Given the description of an element on the screen output the (x, y) to click on. 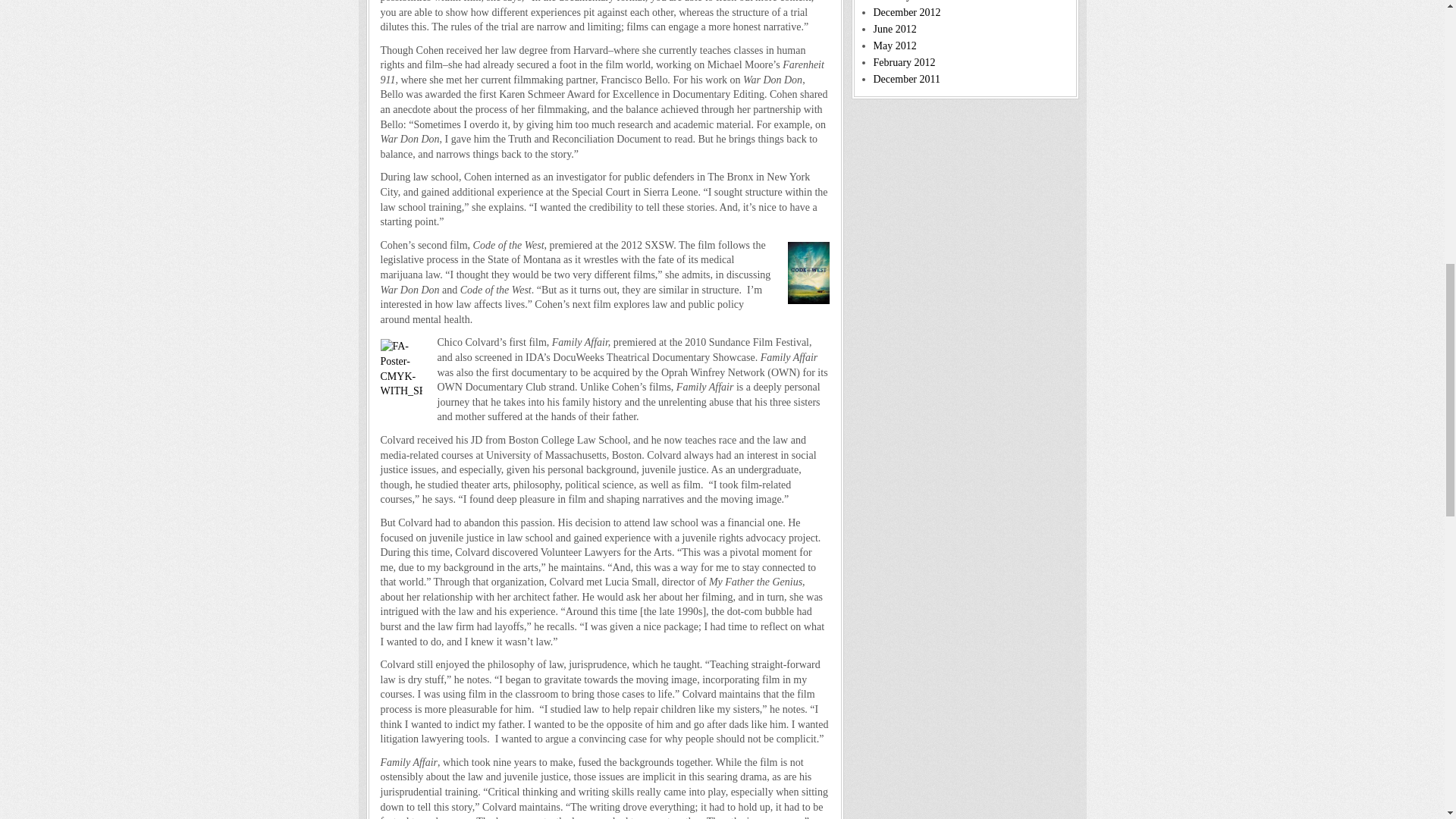
December 2012 (906, 12)
February 2013 (904, 0)
June 2012 (895, 29)
